Given the description of an element on the screen output the (x, y) to click on. 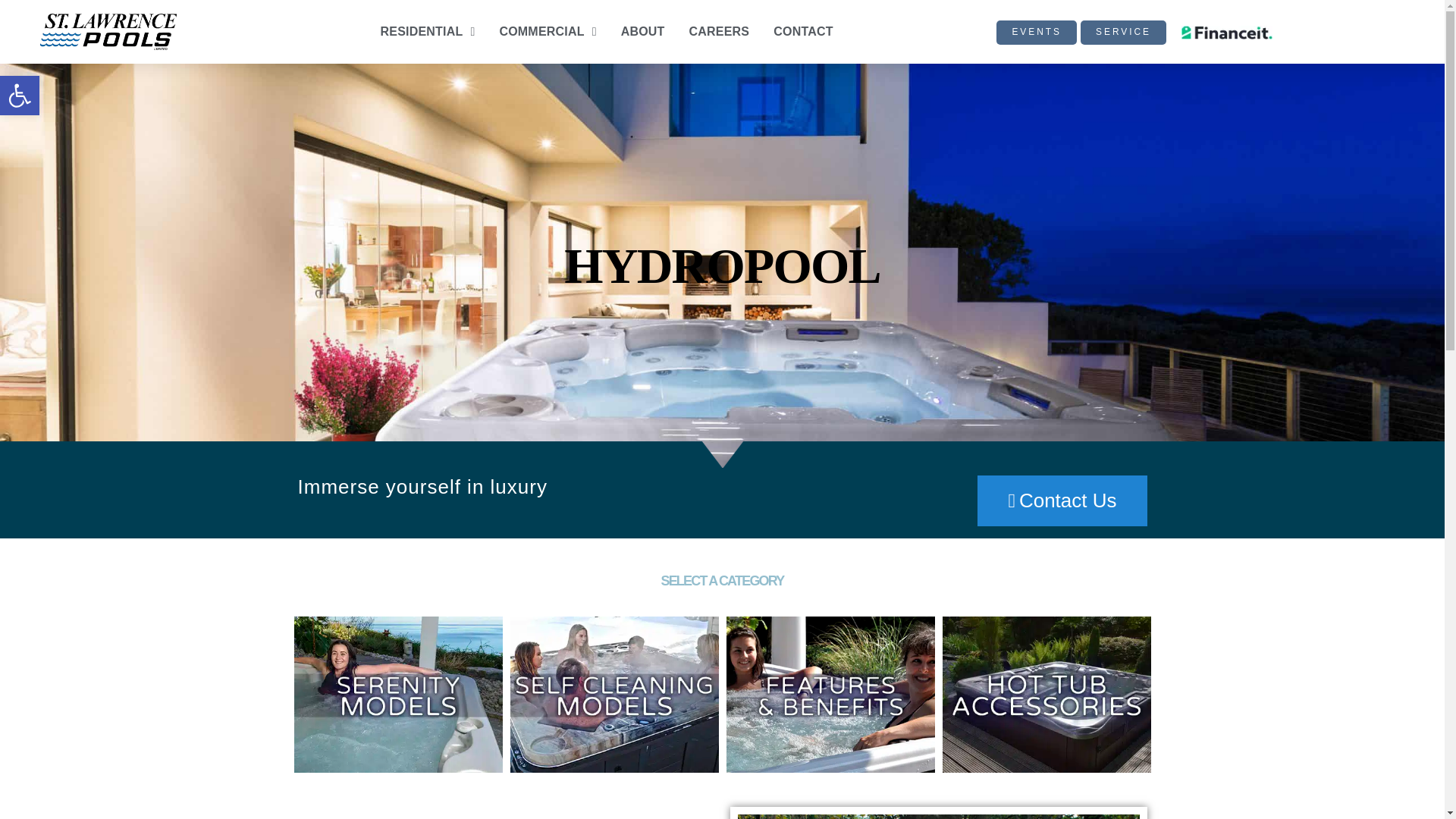
Hydropool 2 (19, 95)
ACCESSIBILITY TOOLS (613, 694)
Hydropool 4 (19, 95)
Hydropool 3 (1046, 694)
RESIDENTIAL (830, 694)
Accessibility Tools (428, 31)
Hydropool 1 (19, 95)
